Given the description of an element on the screen output the (x, y) to click on. 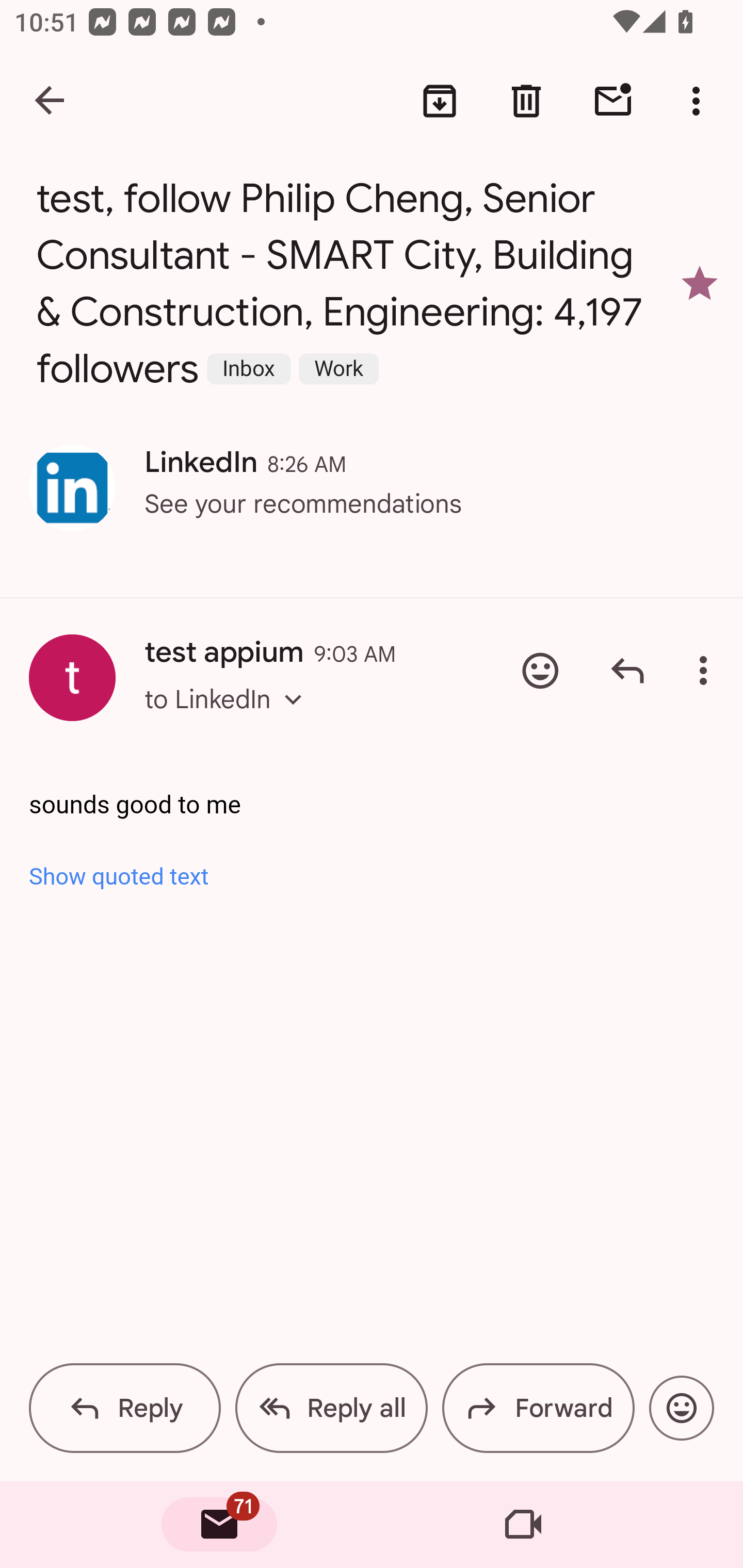
Navigate up (50, 101)
Archive (439, 101)
Delete (525, 101)
Mark unread (612, 101)
More options (699, 101)
Remove star (699, 283)
Show contact information for LinkedIn (71, 488)
Add emoji reaction (540, 670)
Reply (626, 670)
More options (706, 670)
Show contact information for test appium (71, 678)
to LinkedIn (229, 717)
Reply (124, 1407)
Reply all (331, 1407)
Forward (538, 1407)
Add emoji reaction (681, 1407)
Meet (523, 1524)
